Given the description of an element on the screen output the (x, y) to click on. 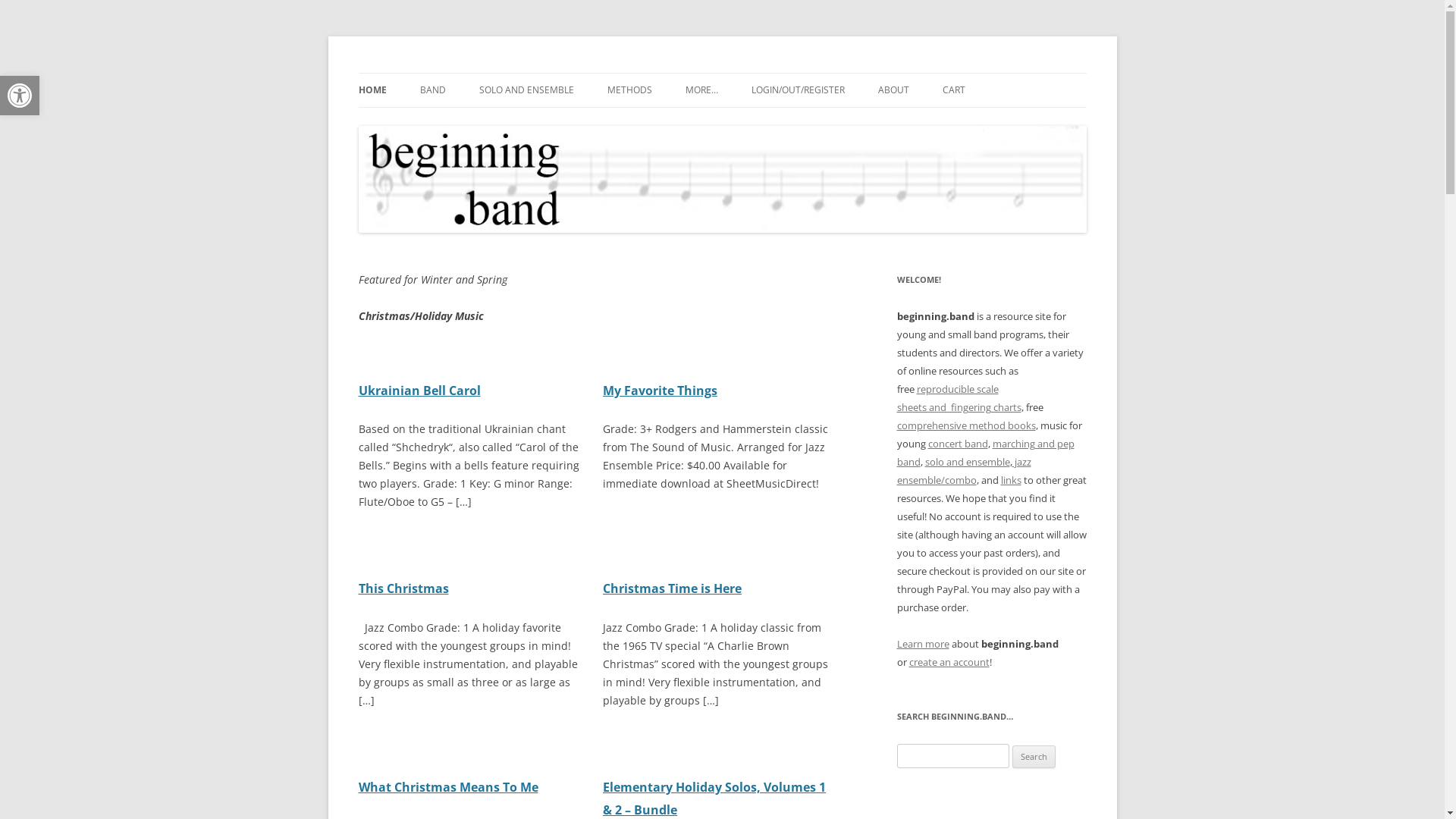
Open toolbar
Accessibility Tools Element type: text (19, 95)
Ukrainian Bell Carol Element type: text (418, 390)
reproducible scale sheets and  fingering charts Element type: text (958, 398)
BAND Element type: text (432, 89)
Skip to content Element type: text (721, 72)
concert band Element type: text (958, 443)
CART Element type: text (952, 89)
METHODS Element type: text (628, 89)
beginning.band Element type: text (433, 72)
YOUR ACCOUNT Element type: text (826, 122)
solo and ensemble Element type: text (967, 461)
marching and pep band Element type: text (984, 452)
SOLO AND ENSEMBLE Element type: text (526, 89)
My Favorite Things Element type: text (659, 390)
CHORALE/WARMUP Element type: text (495, 122)
Search Element type: text (1033, 756)
ABOUT Element type: text (893, 89)
What Christmas Means To Me Element type: text (447, 786)
This Christmas Element type: text (402, 588)
links Element type: text (1011, 479)
jazz ensemble/combo Element type: text (963, 470)
LOGIN/OUT/REGISTER Element type: text (797, 89)
create an account Element type: text (948, 661)
HOME Element type: text (371, 89)
Learn more Element type: text (922, 643)
Christmas Time is Here Element type: text (671, 588)
comprehensive method books Element type: text (965, 425)
